Given the description of an element on the screen output the (x, y) to click on. 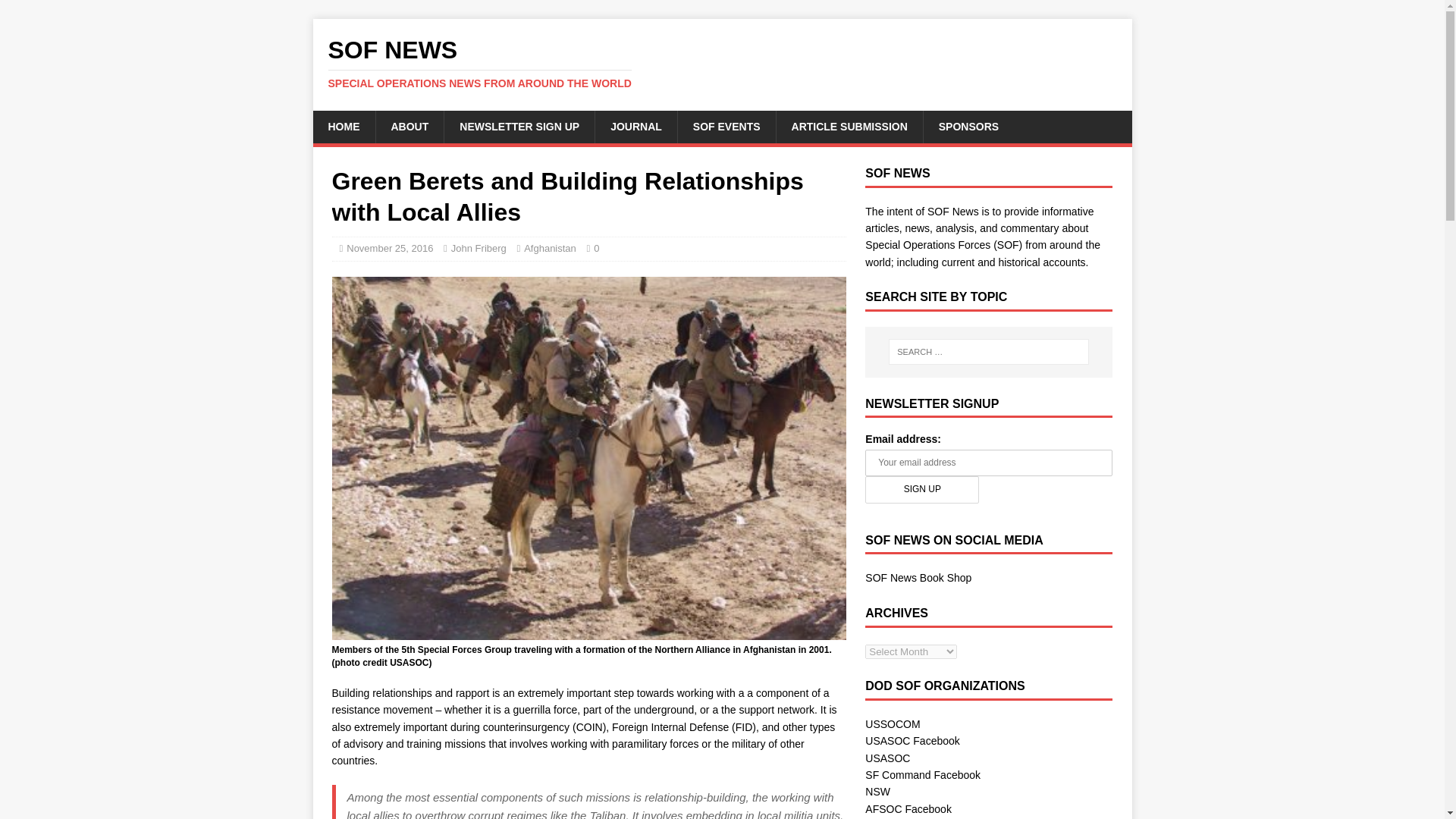
NEWSLETTER SIGN UP (519, 126)
Sign up (921, 488)
USSOCOM (892, 724)
Search (56, 11)
USASOC Facebook (911, 740)
Afghanistan (550, 247)
SOF News (721, 63)
John Friberg (478, 247)
AFSOC Facebook (908, 808)
ABOUT (409, 126)
